Given the description of an element on the screen output the (x, y) to click on. 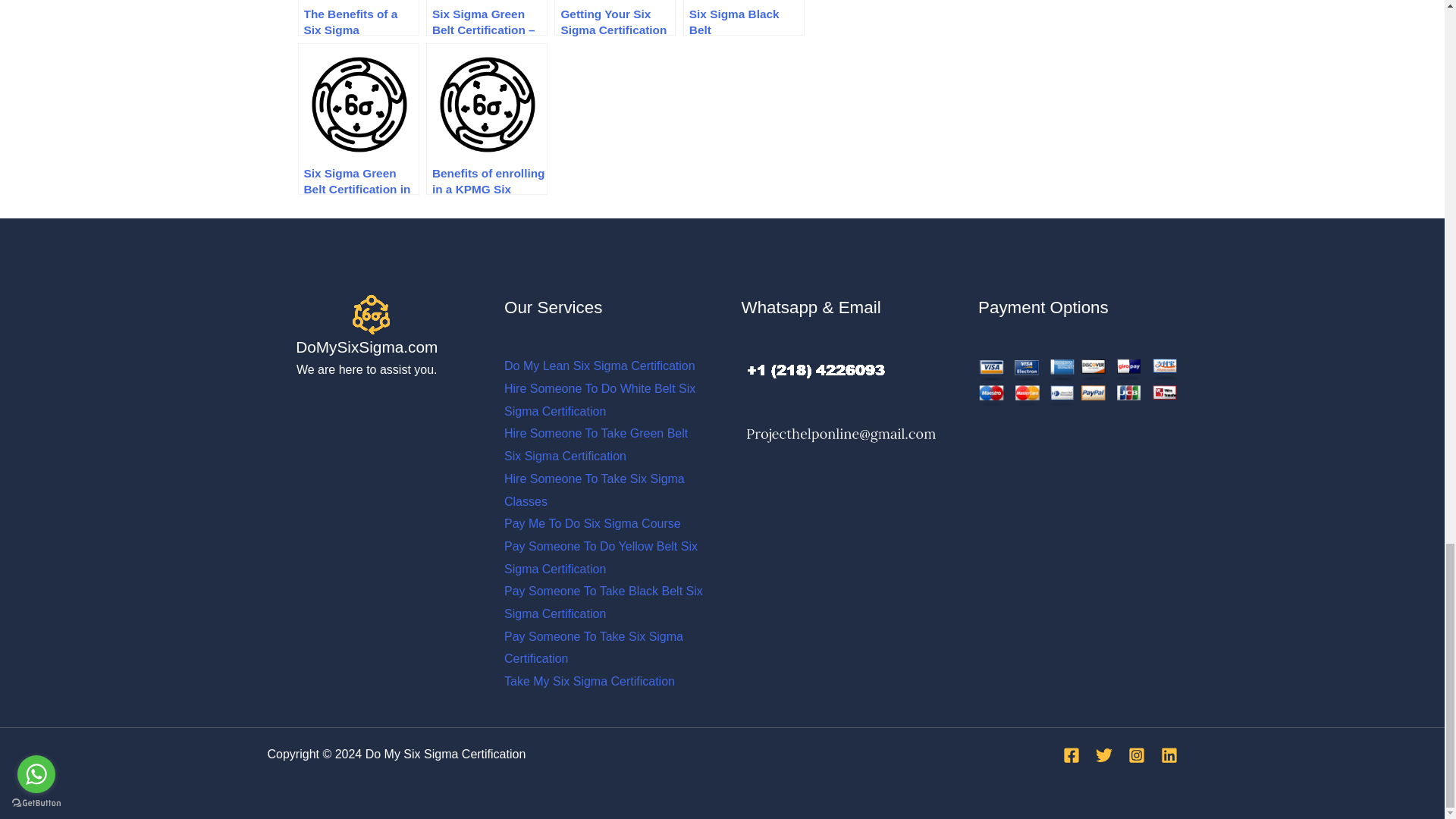
Six Sigma Black Belt Responsibilities (743, 18)
Getting Your Six Sigma Certification Body Of Knowledge (614, 18)
The Benefits of a Six Sigma Certification Australia Program (358, 18)
The Benefits of a Six Sigma Certification Australia Program (358, 18)
Getting Your Six Sigma Certification Body Of Knowledge (614, 18)
Six Sigma Black Belt Responsibilities (743, 18)
